Given the description of an element on the screen output the (x, y) to click on. 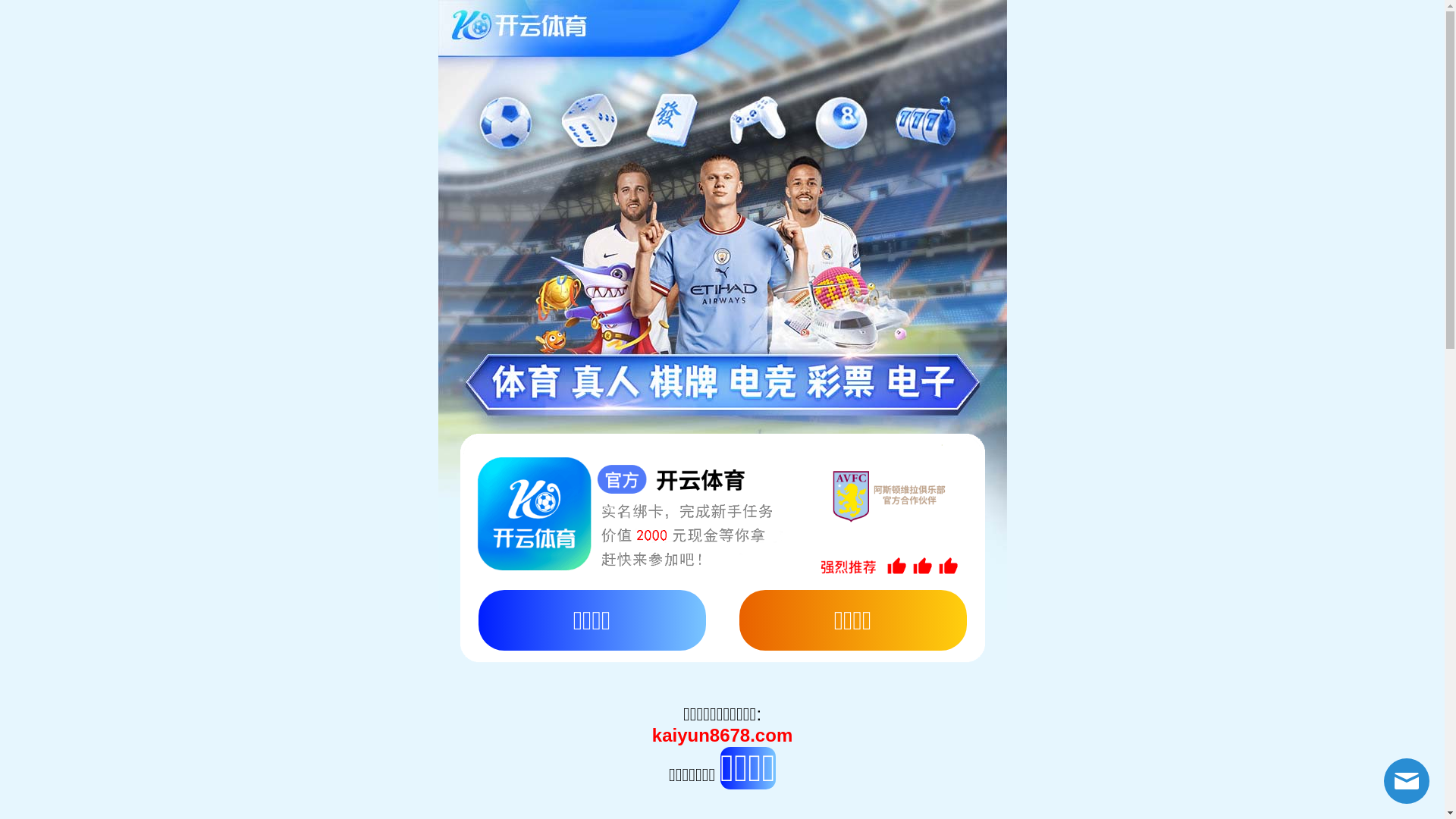
ENGLISH Element type: text (303, 10)
